Given the description of an element on the screen output the (x, y) to click on. 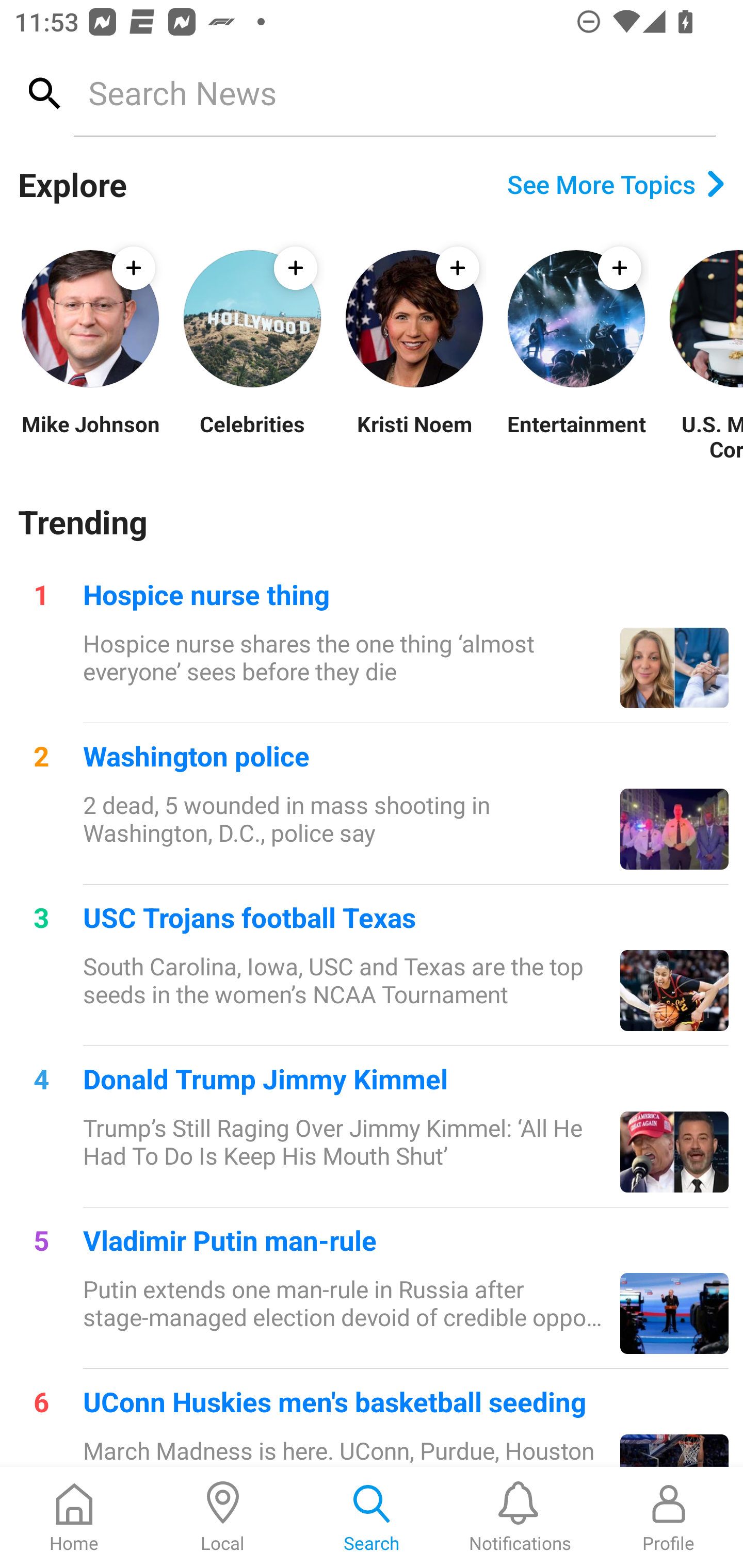
Search News (394, 92)
See More Topics (616, 183)
Mike Johnson (89, 436)
Celebrities (251, 436)
Kristi Noem (413, 436)
Entertainment (575, 436)
Home (74, 1517)
Local (222, 1517)
Notifications (519, 1517)
Profile (668, 1517)
